Given the description of an element on the screen output the (x, y) to click on. 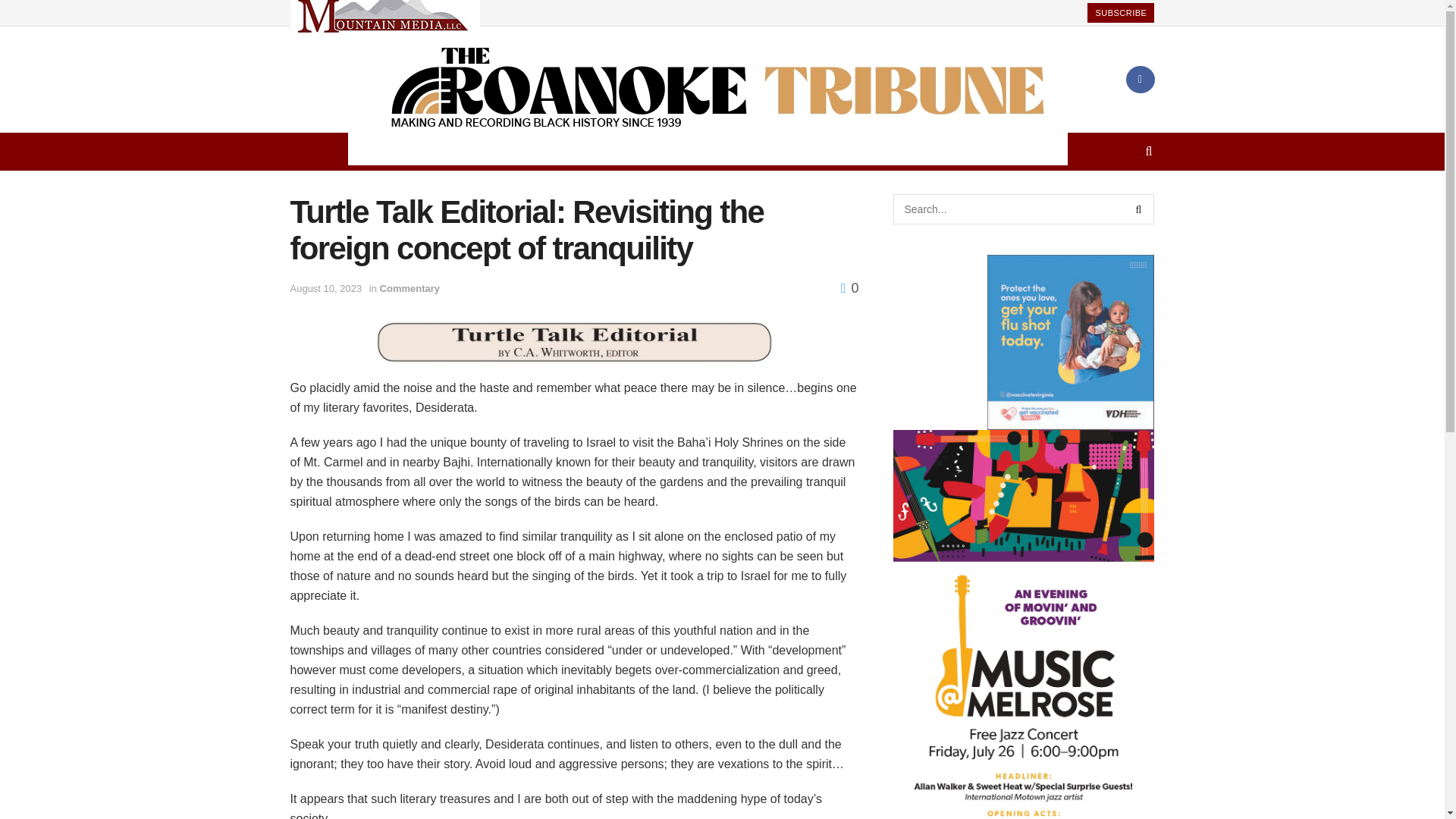
Commentary (711, 151)
Our History (867, 151)
SUBSCRIBE (1120, 12)
Black College Sports (612, 151)
Archive News (792, 151)
Regional News (509, 151)
Subscribe (935, 151)
August 10, 2023 (325, 288)
0 (850, 287)
Commentary (409, 288)
